Given the description of an element on the screen output the (x, y) to click on. 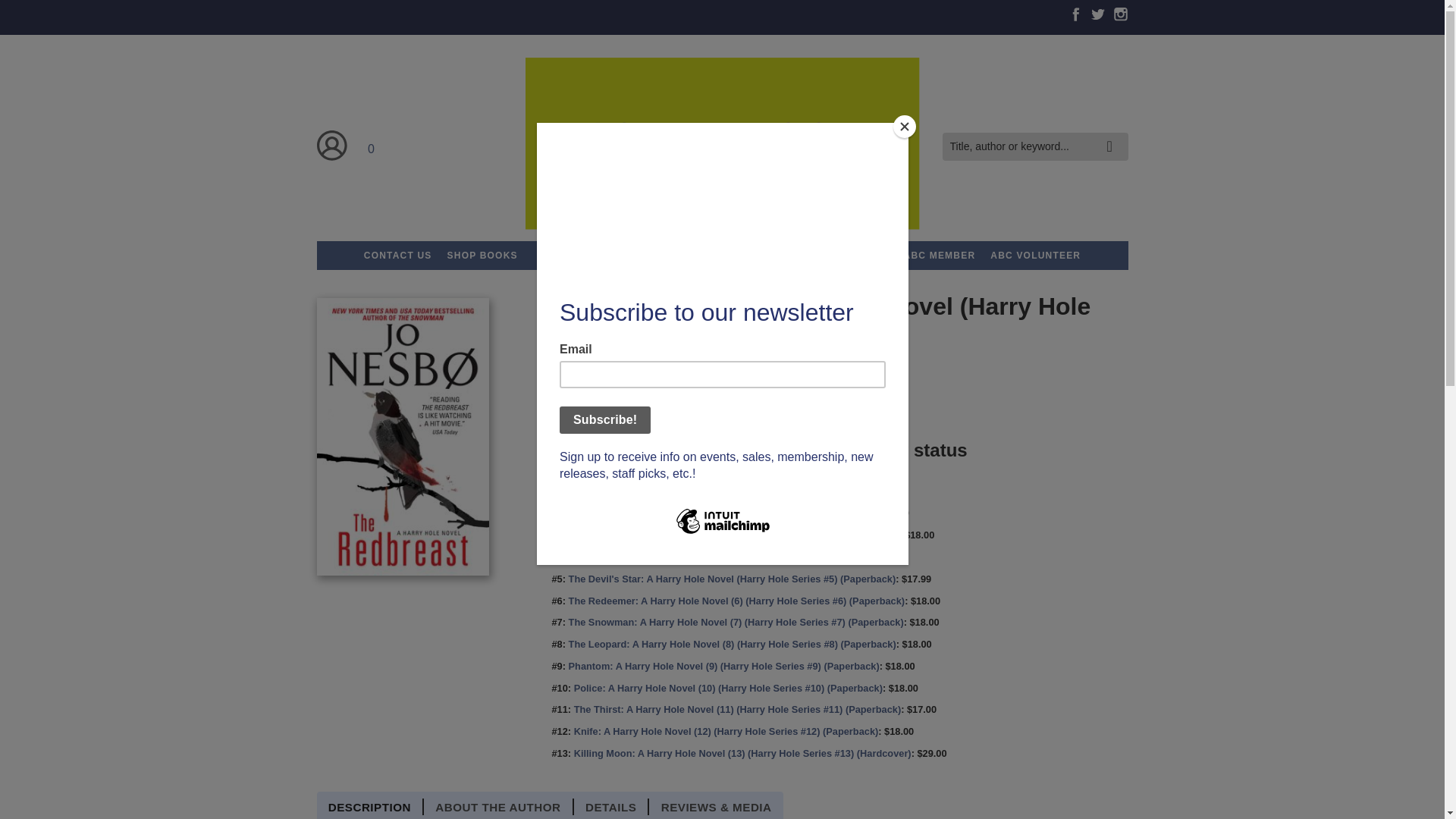
Home (721, 146)
ABOUT THE AUTHOR (498, 806)
search (1112, 134)
SHOP BOOKS (482, 255)
Title, author or keyword... (1034, 146)
BECOME AN ABC MEMBER (905, 255)
search (1112, 134)
Jo Nesbo (602, 383)
ABC VOLUNTEER (1034, 255)
DESCRIPTION (371, 806)
DETAILS (611, 806)
CONTACT US (397, 255)
